Given the description of an element on the screen output the (x, y) to click on. 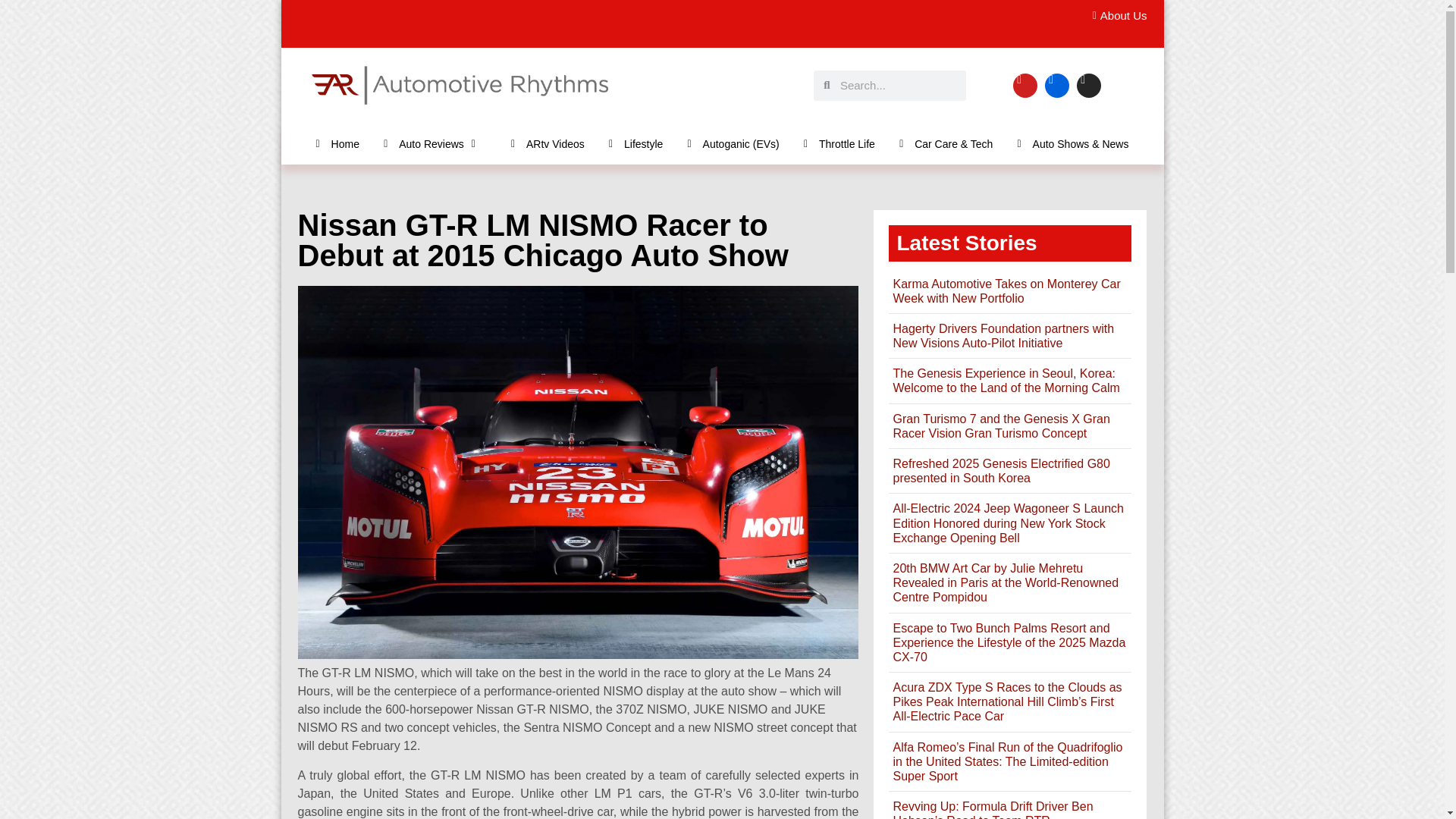
About Us (1115, 16)
ARtv Videos (547, 142)
Auto Reviews (435, 142)
Lifestyle (635, 142)
Home (336, 142)
